Given the description of an element on the screen output the (x, y) to click on. 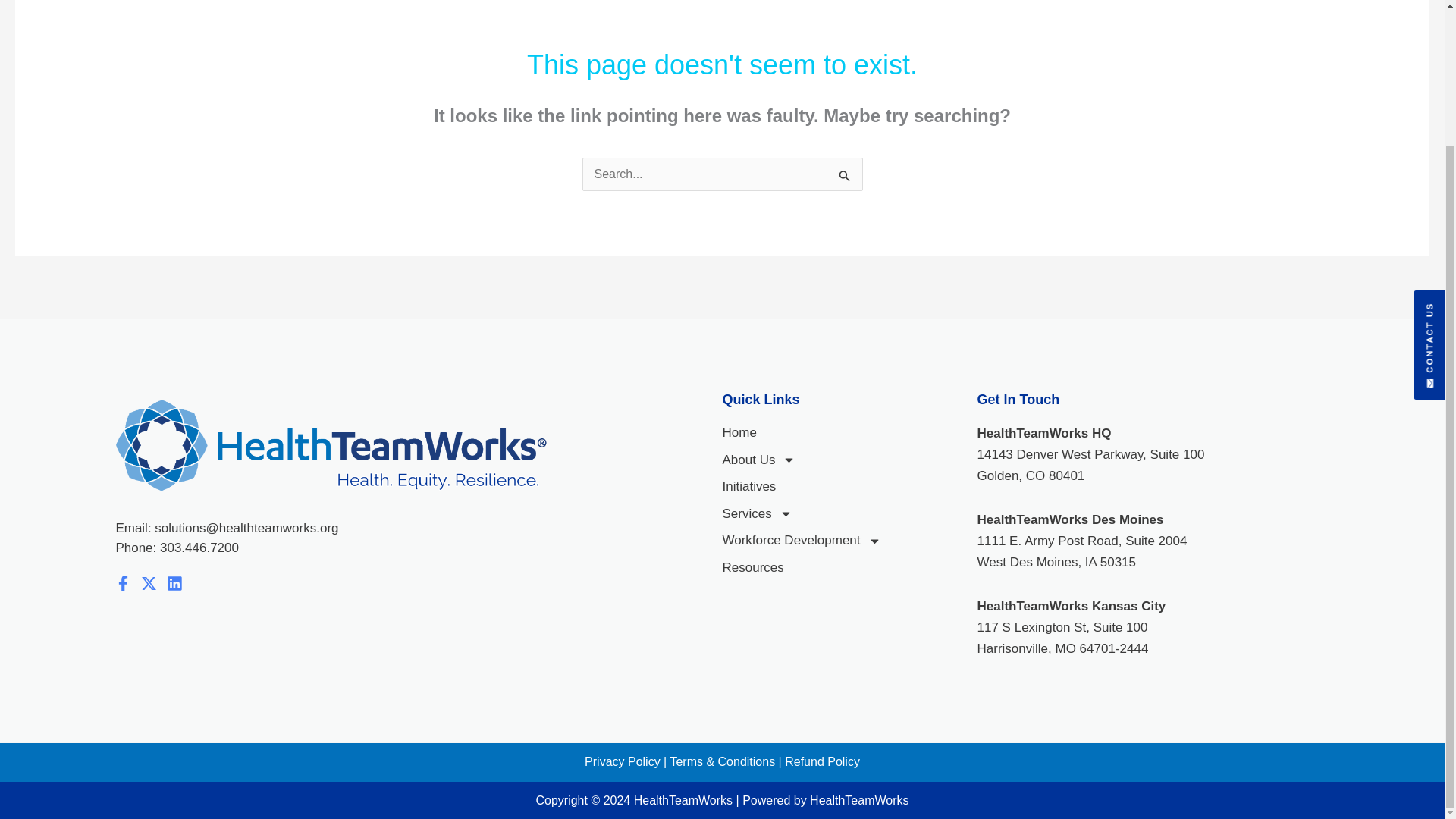
Search (844, 175)
Search (844, 175)
